Given the description of an element on the screen output the (x, y) to click on. 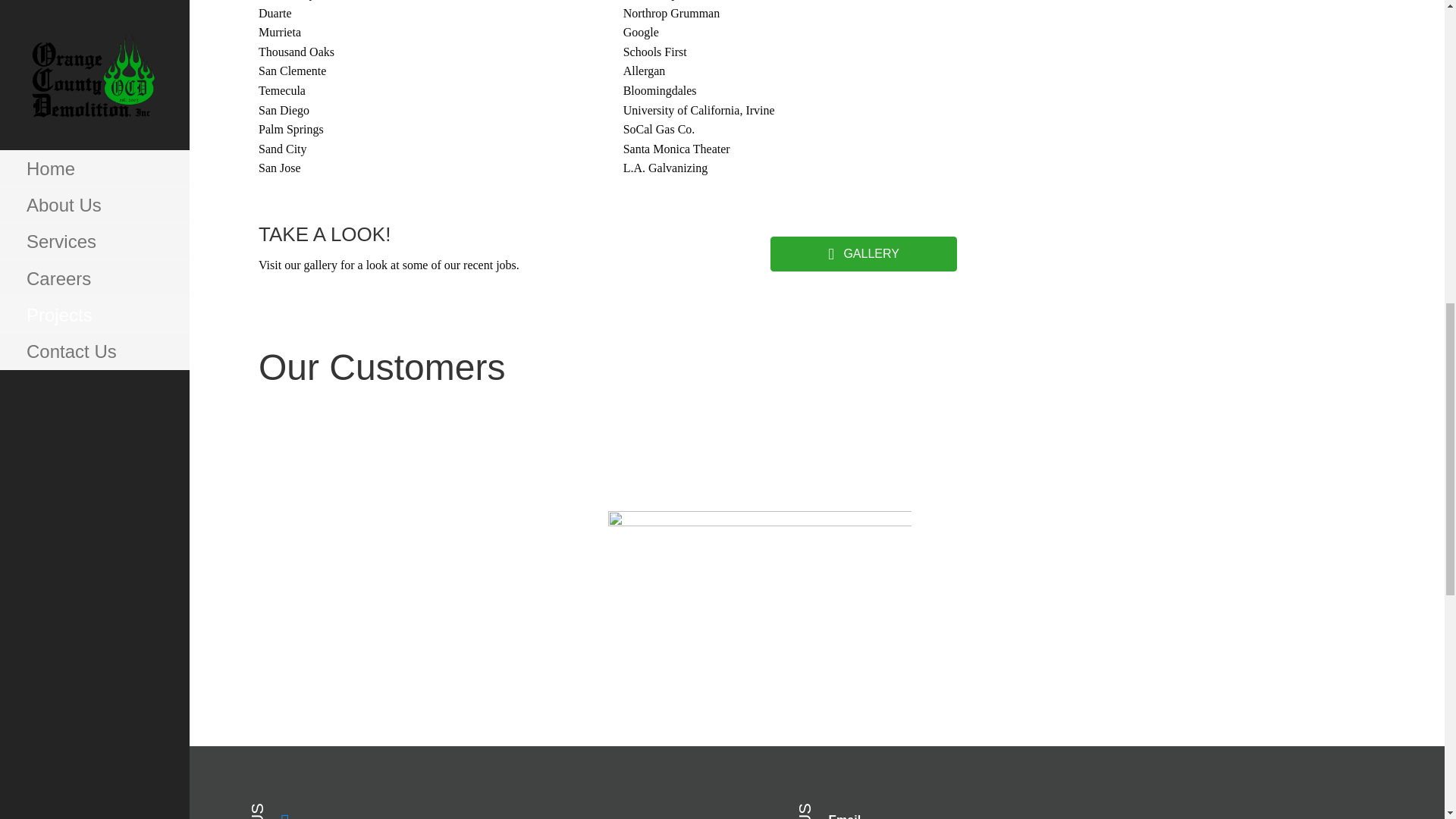
Visit  on LinkedIn (520, 814)
GALLERY (863, 253)
LinkedIn (520, 814)
